Given the description of an element on the screen output the (x, y) to click on. 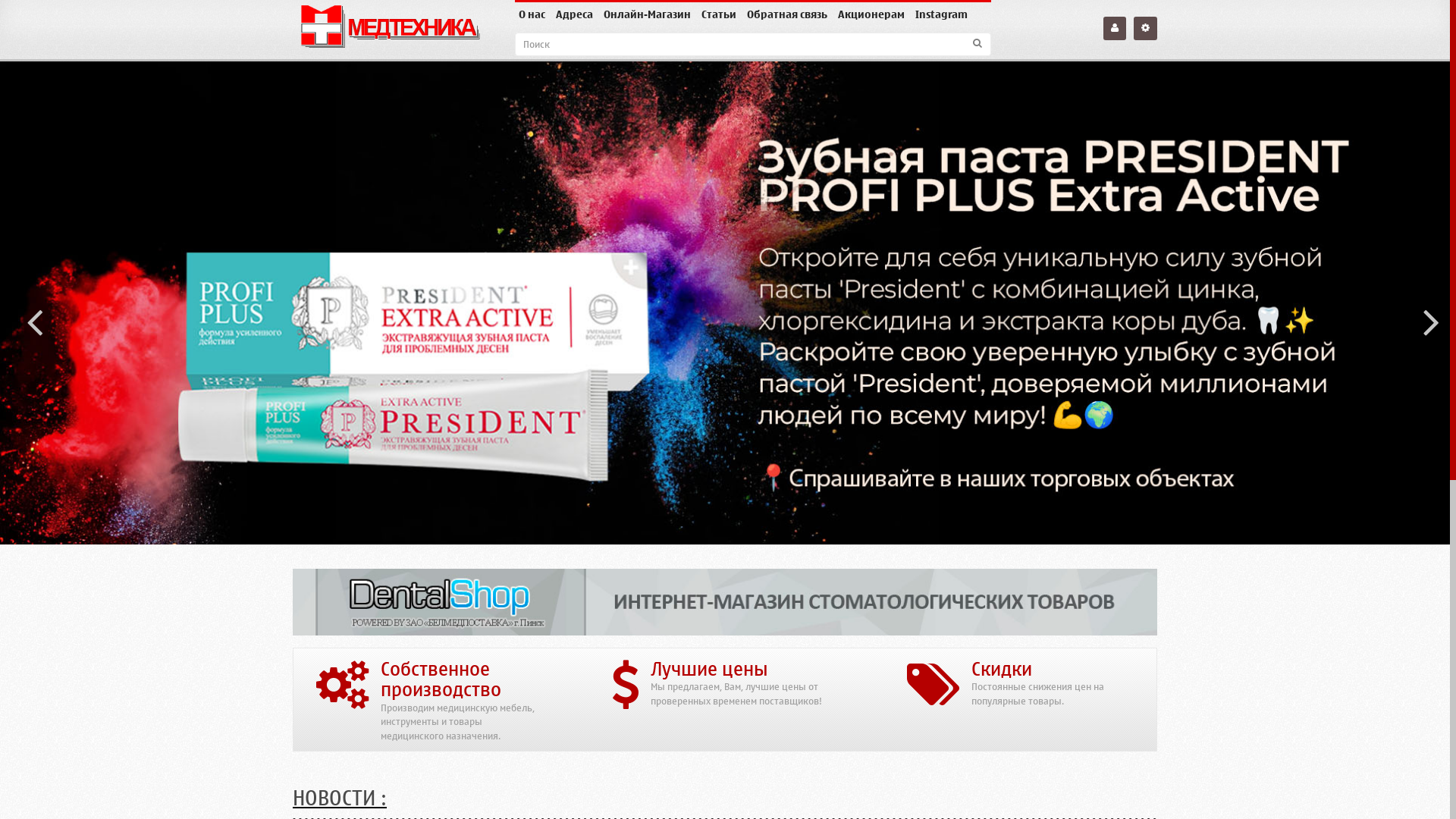
Instagram Element type: text (941, 15)
